Given the description of an element on the screen output the (x, y) to click on. 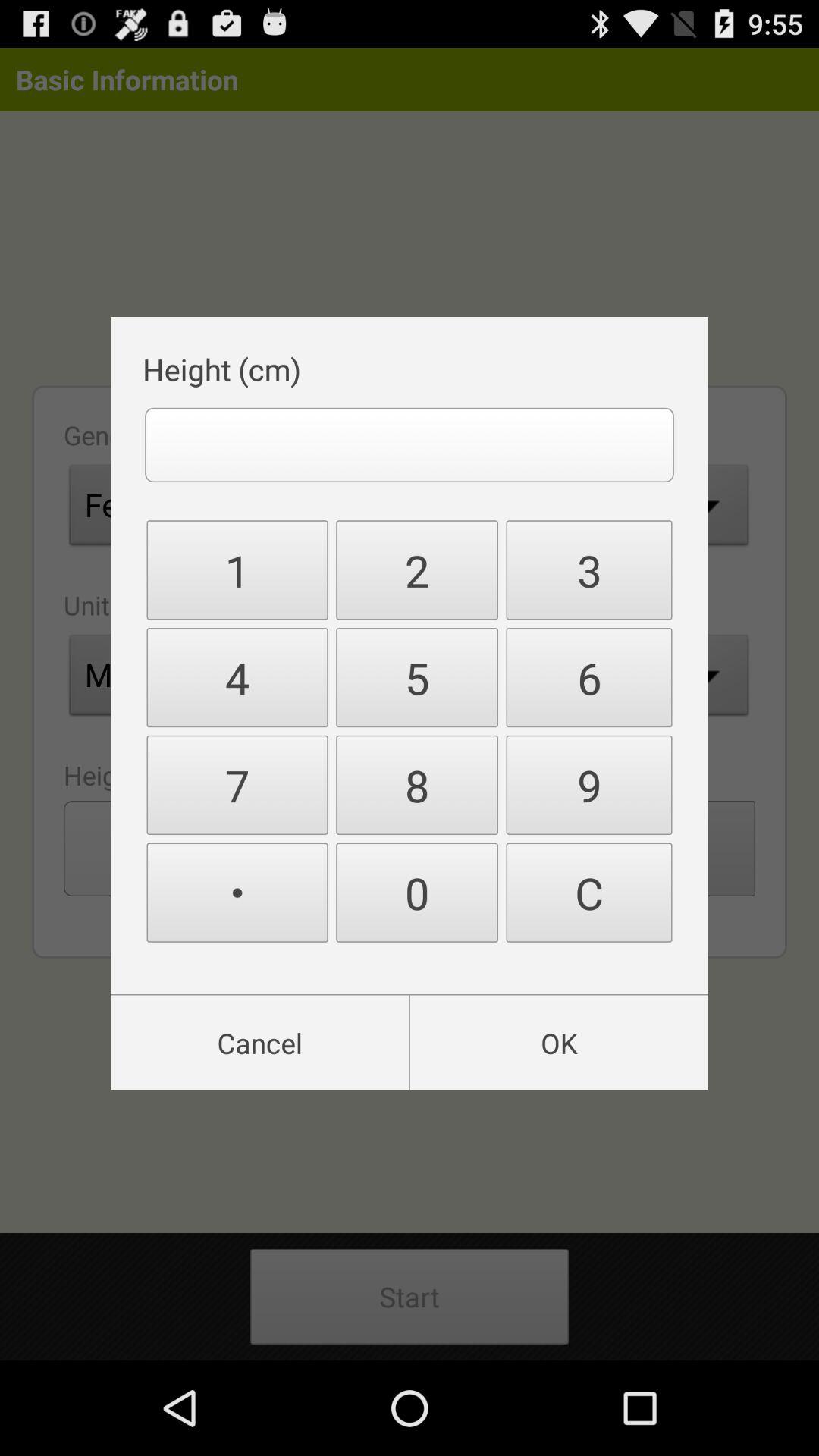
tap the icon below 8 icon (589, 892)
